Given the description of an element on the screen output the (x, y) to click on. 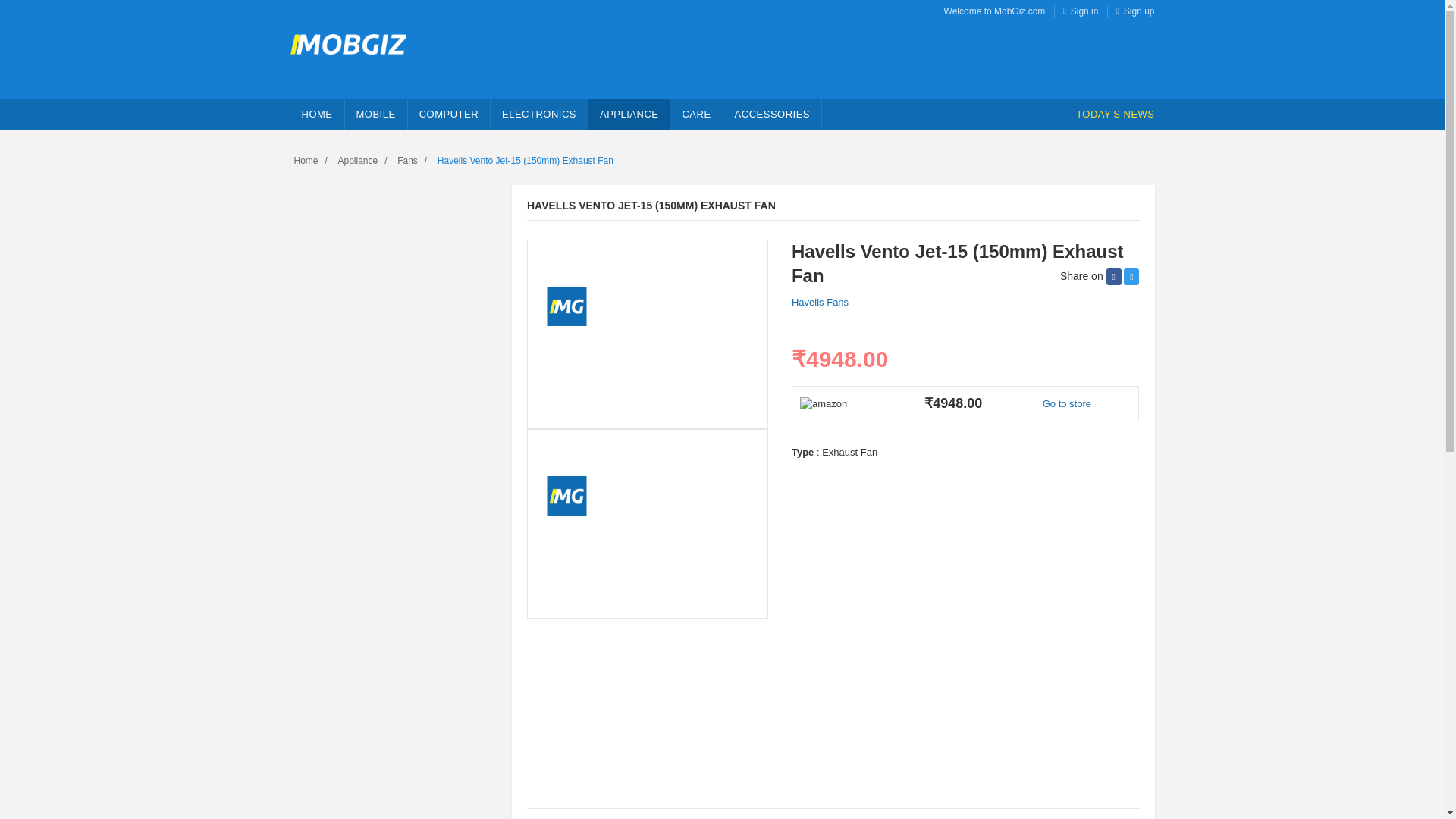
HOME (316, 114)
MOBILE (375, 114)
Home (316, 114)
Mobile (375, 114)
Computer (448, 114)
Sign up (1139, 10)
COMPUTER (448, 114)
Welcome to MobGiz.com (994, 10)
Sign in (1084, 10)
